Given the description of an element on the screen output the (x, y) to click on. 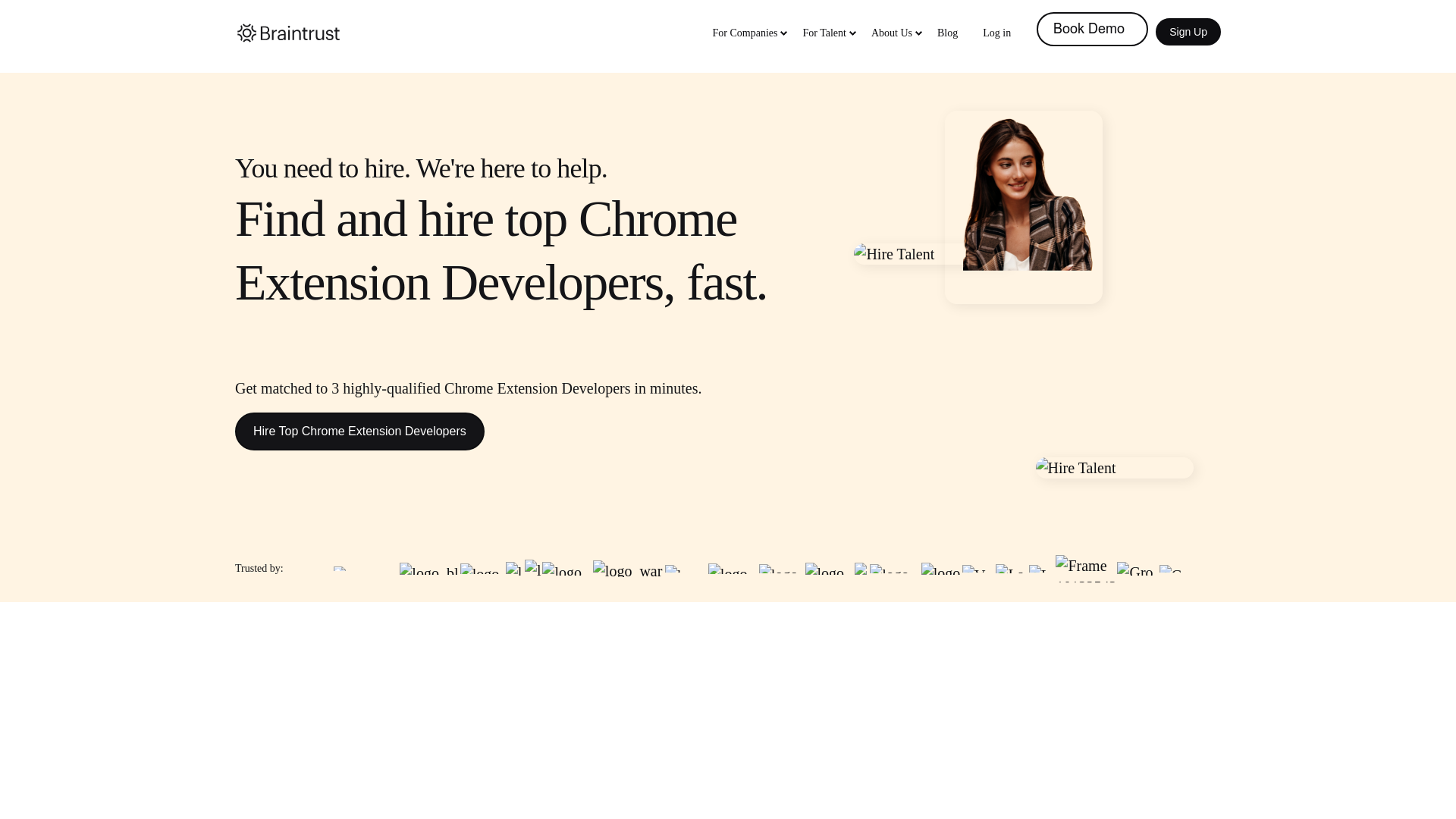
Hire Top Chrome Extension Developers (359, 431)
Braintrust (288, 33)
Sign Up (1188, 31)
About Us (891, 30)
Log in (996, 30)
For Talent (823, 30)
For Companies (745, 30)
